Given the description of an element on the screen output the (x, y) to click on. 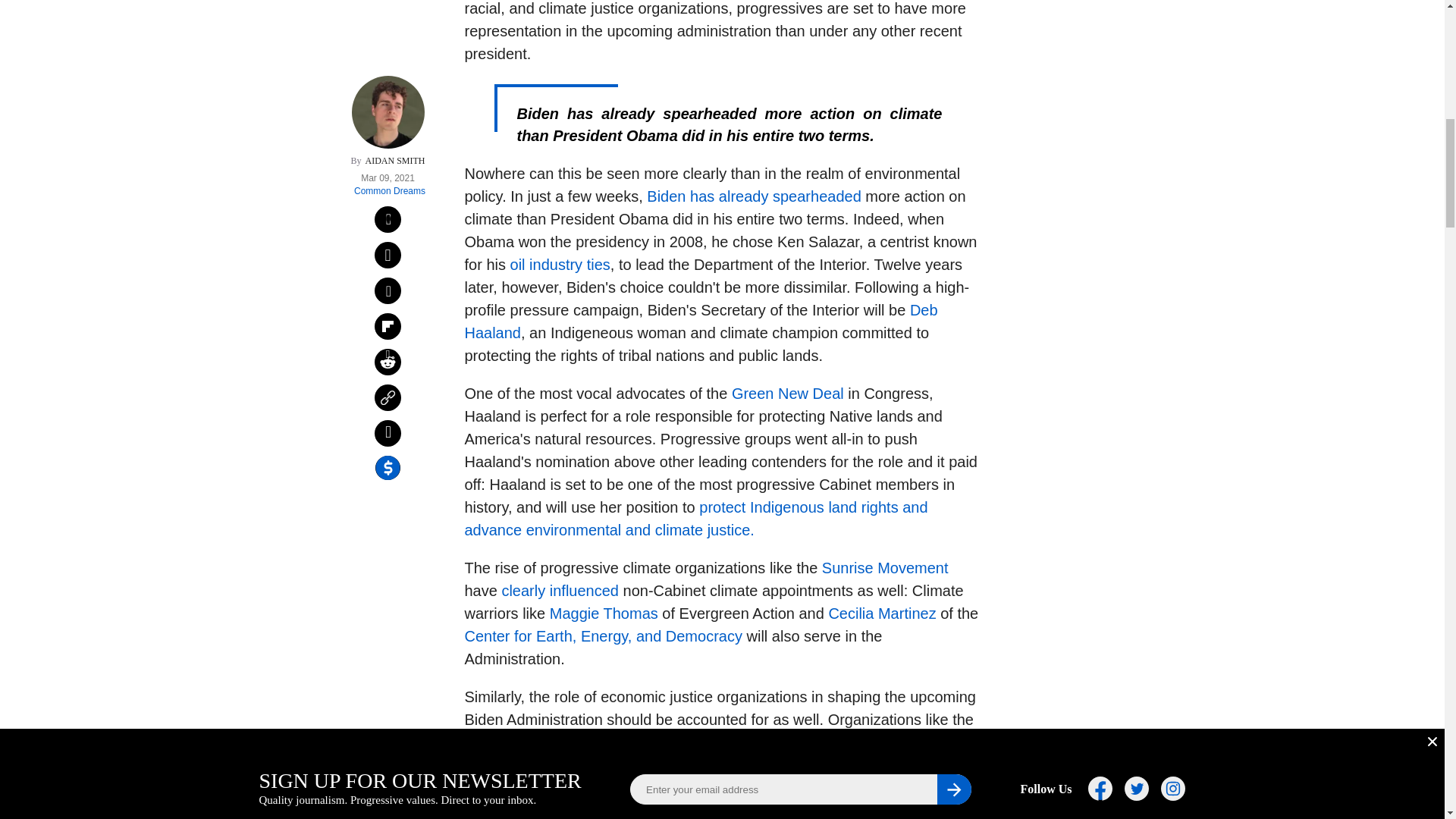
Donate Button (1051, 207)
Copy this link to clipboard (387, 234)
